Given the description of an element on the screen output the (x, y) to click on. 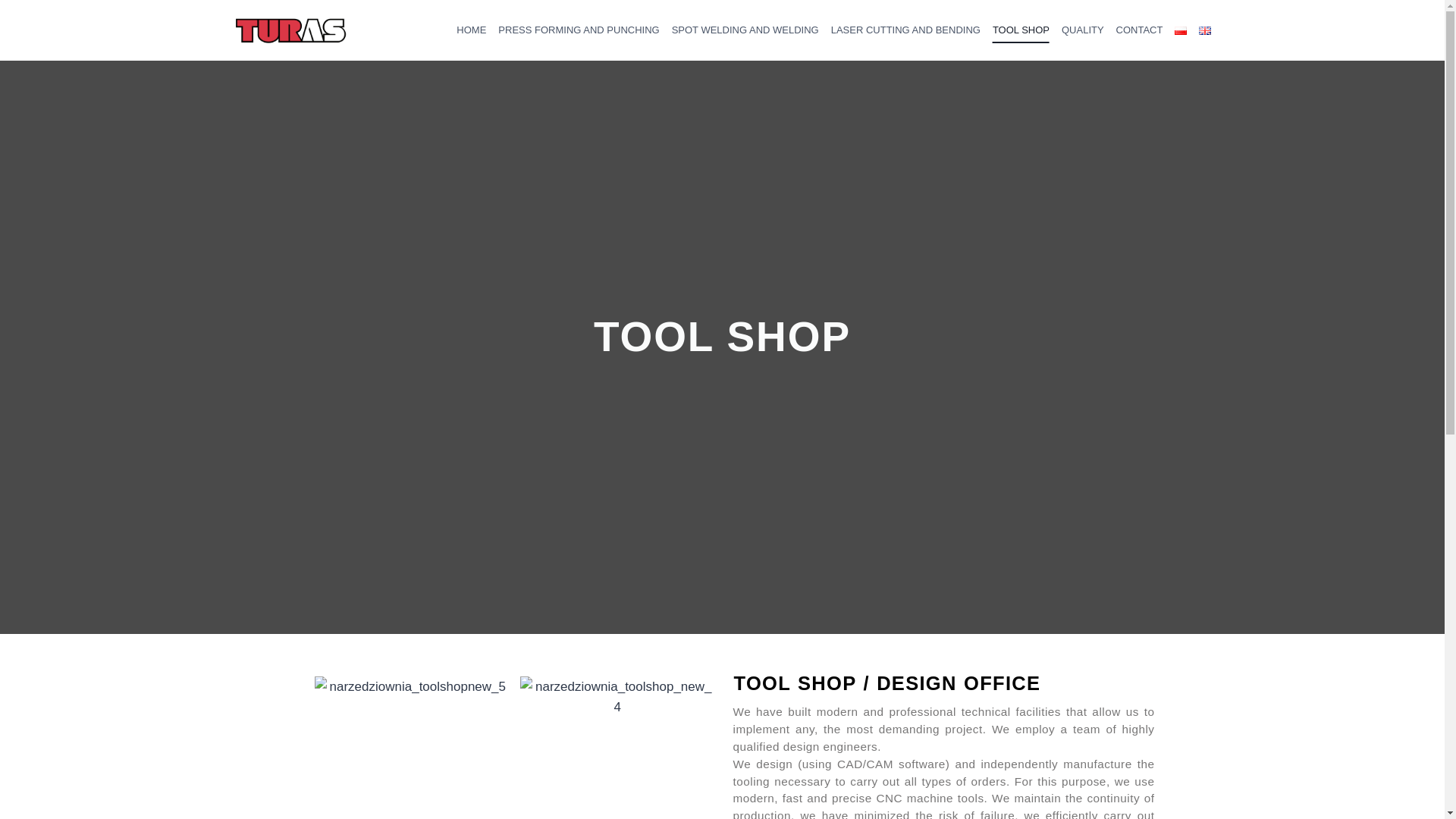
LASER CUTTING AND BENDING (905, 30)
SPOT WELDING AND WELDING (744, 30)
QUALITY (1082, 30)
TOOL SHOP (1020, 30)
CONTACT (1139, 30)
HOME (471, 30)
PRESS FORMING AND PUNCHING (578, 30)
